Given the description of an element on the screen output the (x, y) to click on. 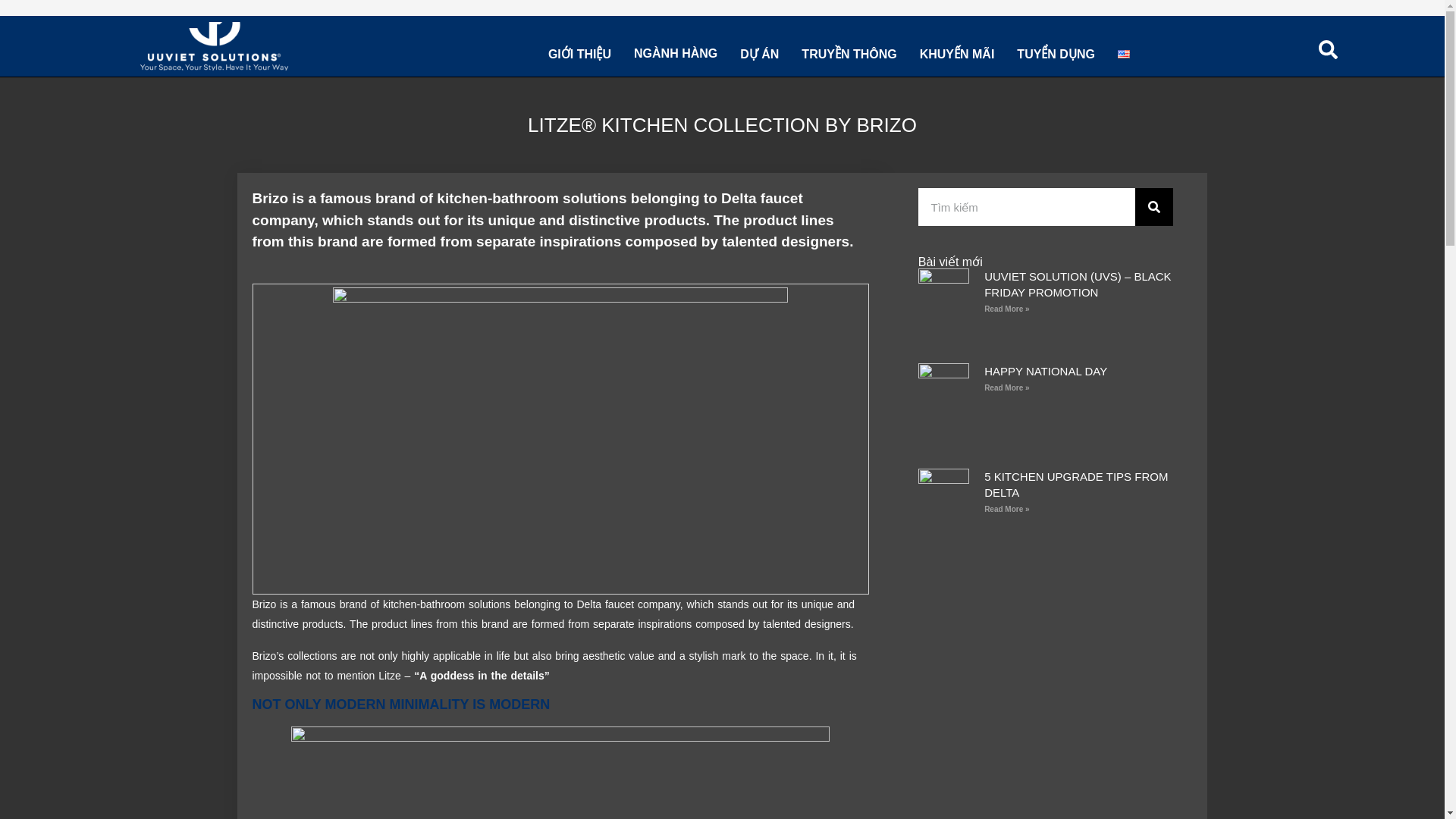
Search (1154, 207)
Logo Uuviet Solutions (214, 46)
Search (1026, 207)
